Given the description of an element on the screen output the (x, y) to click on. 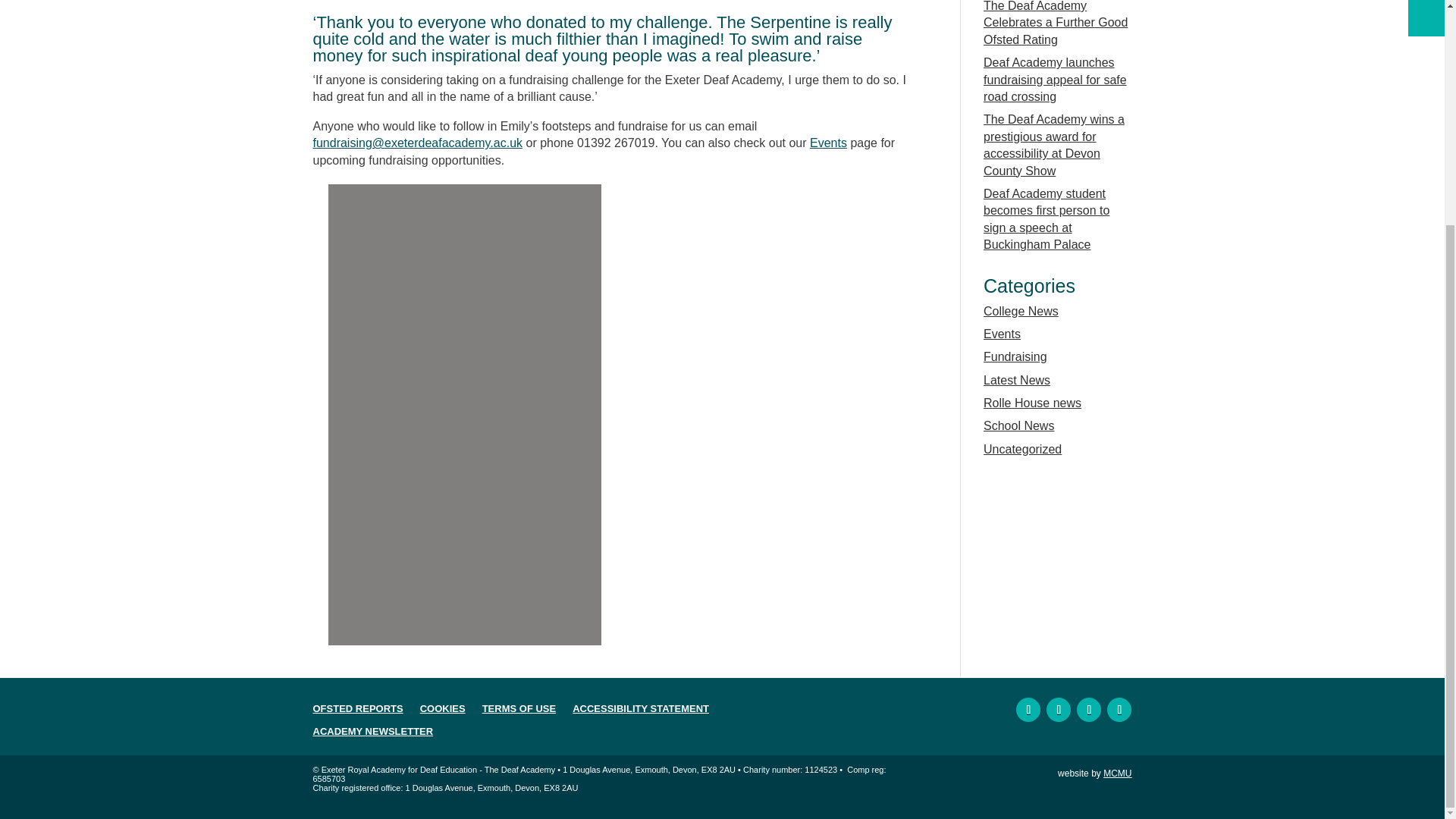
Page 1 (614, 778)
